Given the description of an element on the screen output the (x, y) to click on. 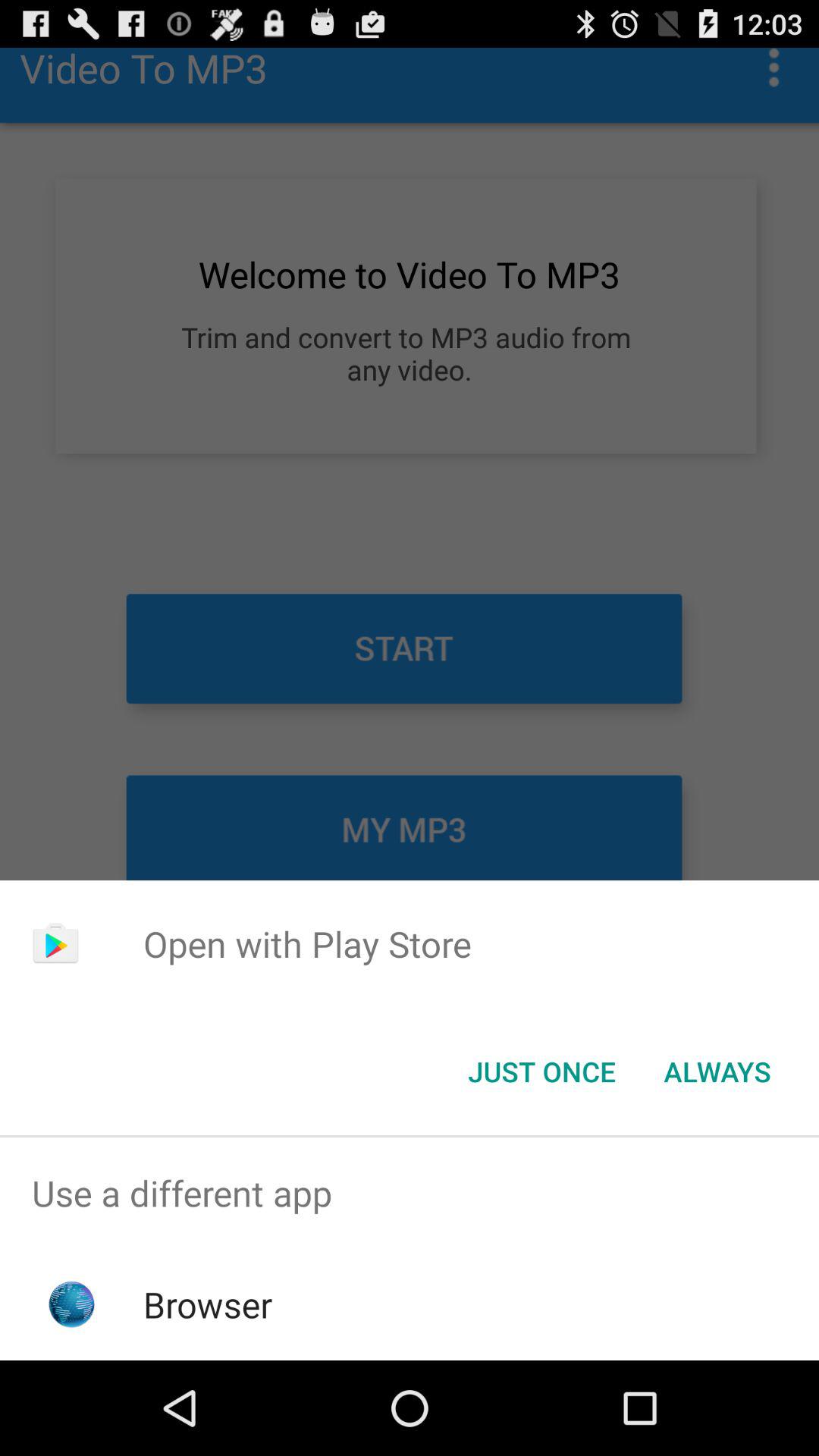
click just once item (541, 1071)
